Given the description of an element on the screen output the (x, y) to click on. 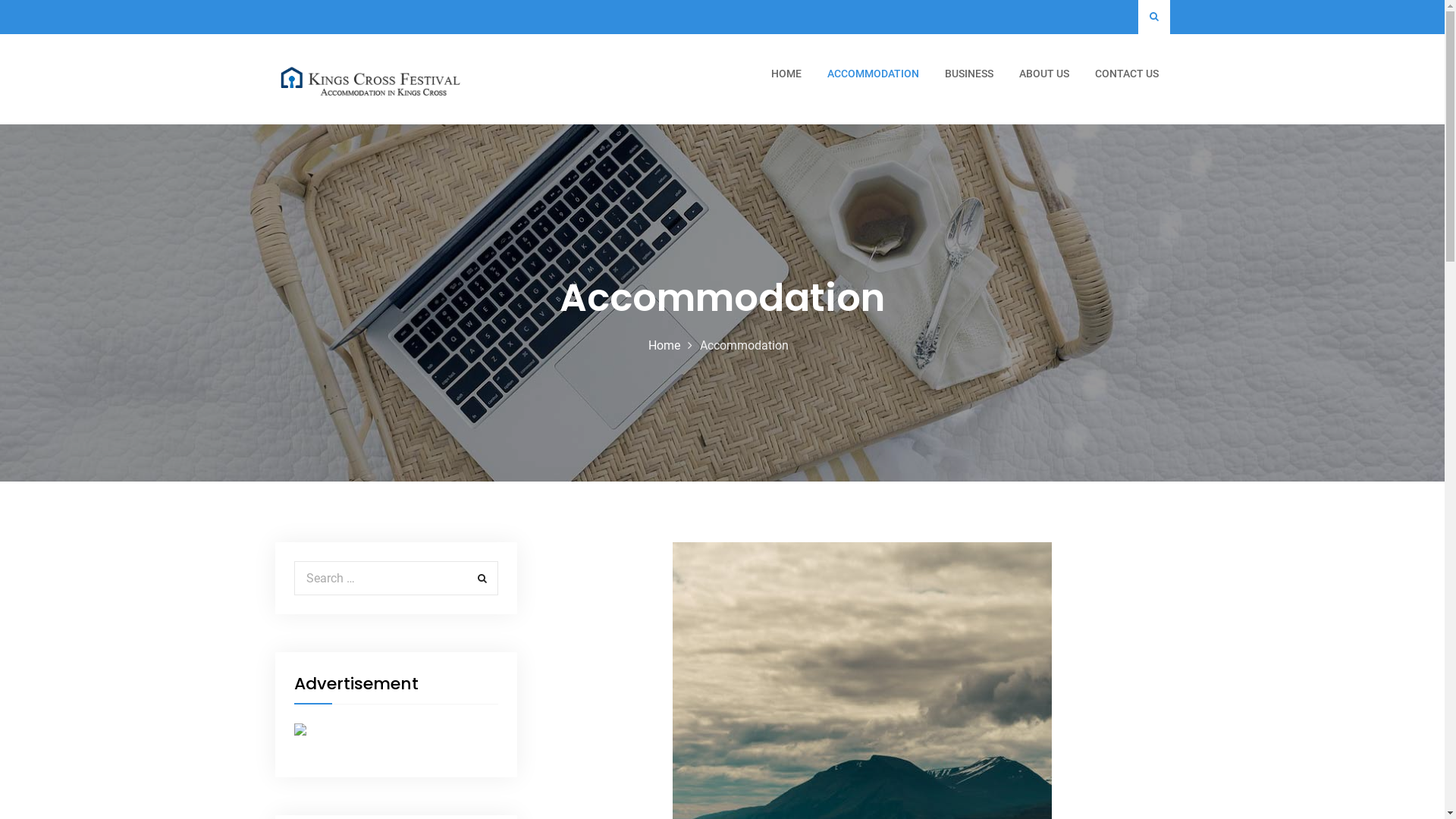
Home Element type: text (664, 345)
CONTACT US Element type: text (1125, 73)
Skip to content Element type: text (0, 0)
ACCOMMODATION Element type: text (872, 73)
HOME Element type: text (785, 73)
BUSINESS Element type: text (968, 73)
ABOUT US Element type: text (1043, 73)
